Given the description of an element on the screen output the (x, y) to click on. 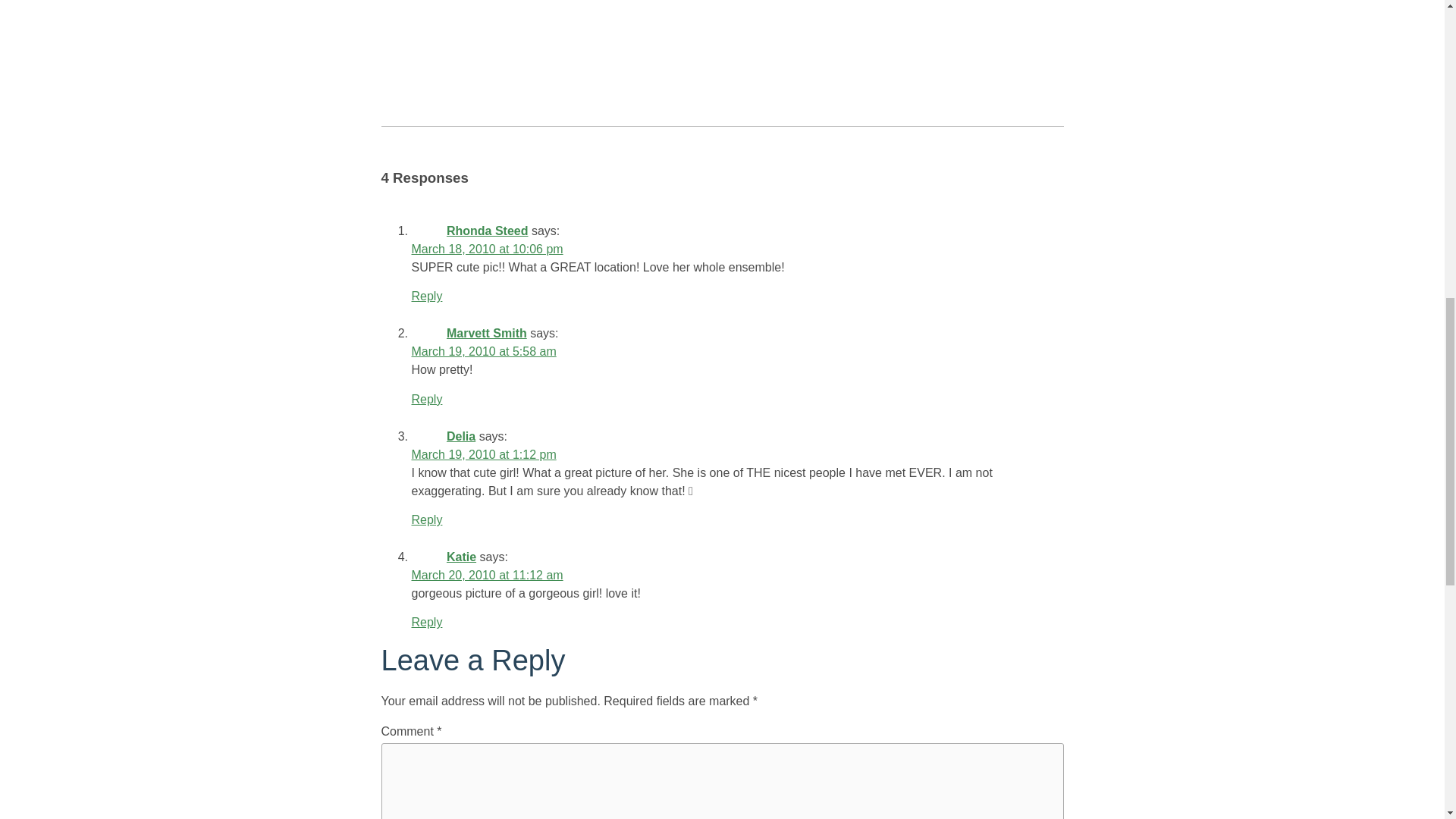
Reply (426, 621)
Reply (426, 295)
Delia (461, 436)
Reply (426, 519)
March 20, 2010 at 11:12 am (486, 574)
Reply (426, 399)
March 18, 2010 at 10:06 pm (486, 248)
Katie (461, 556)
March 19, 2010 at 1:12 pm (483, 454)
Marvett Smith (486, 332)
Rhonda Steed (487, 230)
March 19, 2010 at 5:58 am (483, 350)
Helga-3 (574, 41)
